Given the description of an element on the screen output the (x, y) to click on. 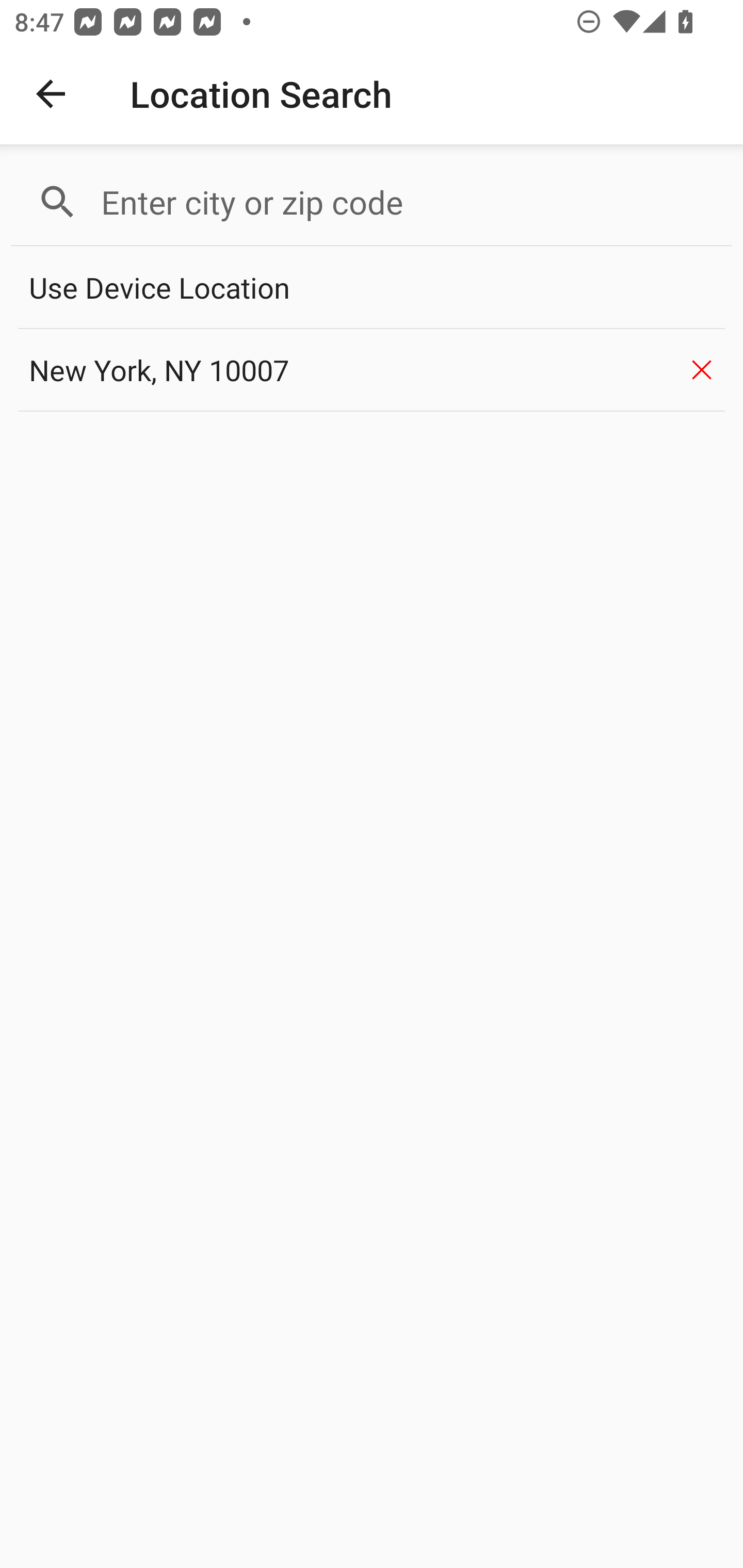
Navigate up (50, 93)
Enter city or zip code (407, 202)
Use Device Location (371, 287)
